Given the description of an element on the screen output the (x, y) to click on. 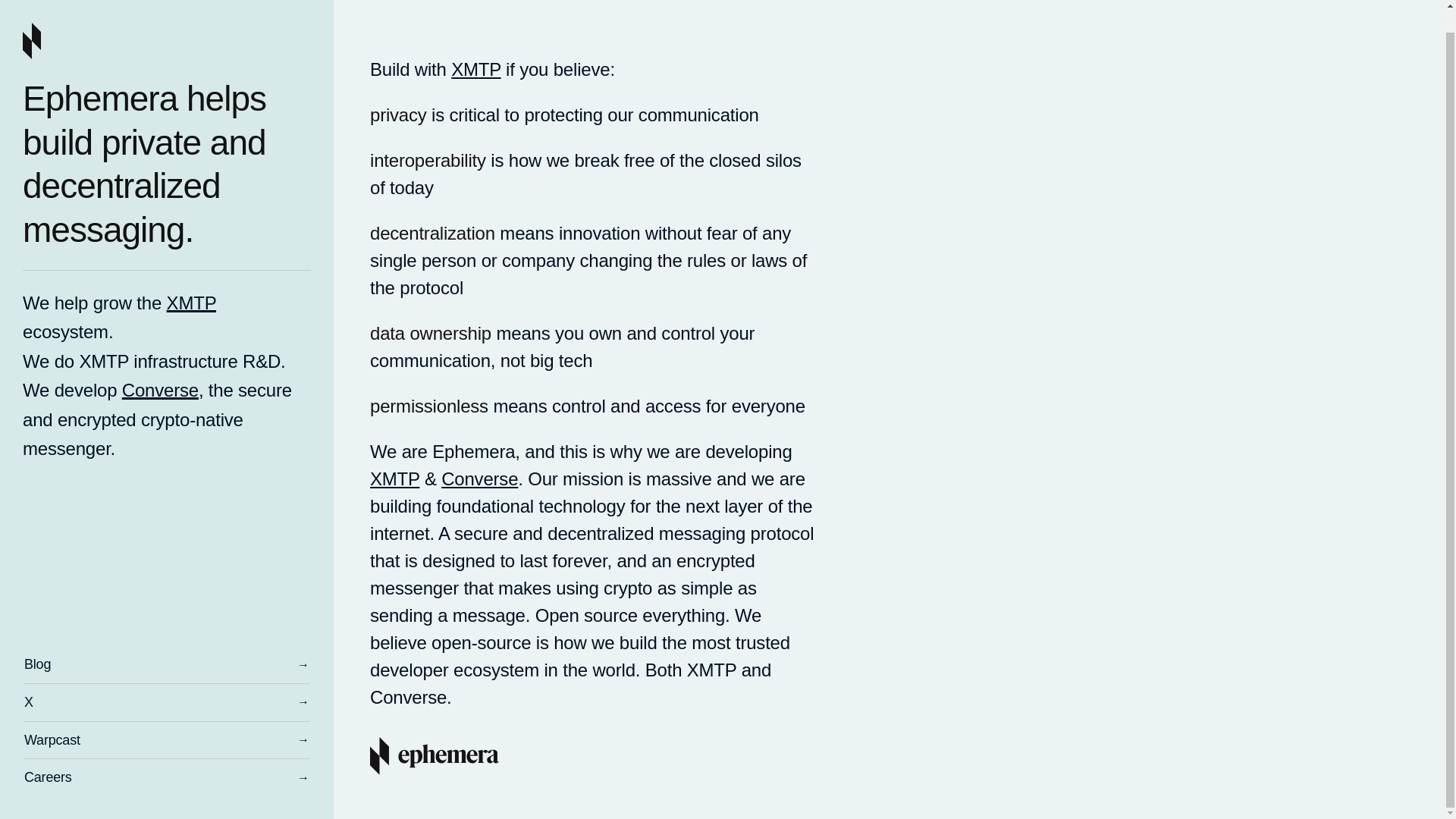
XMTP (475, 68)
Converse (479, 478)
XMTP (191, 282)
Converse (160, 369)
XMTP (394, 478)
